Given the description of an element on the screen output the (x, y) to click on. 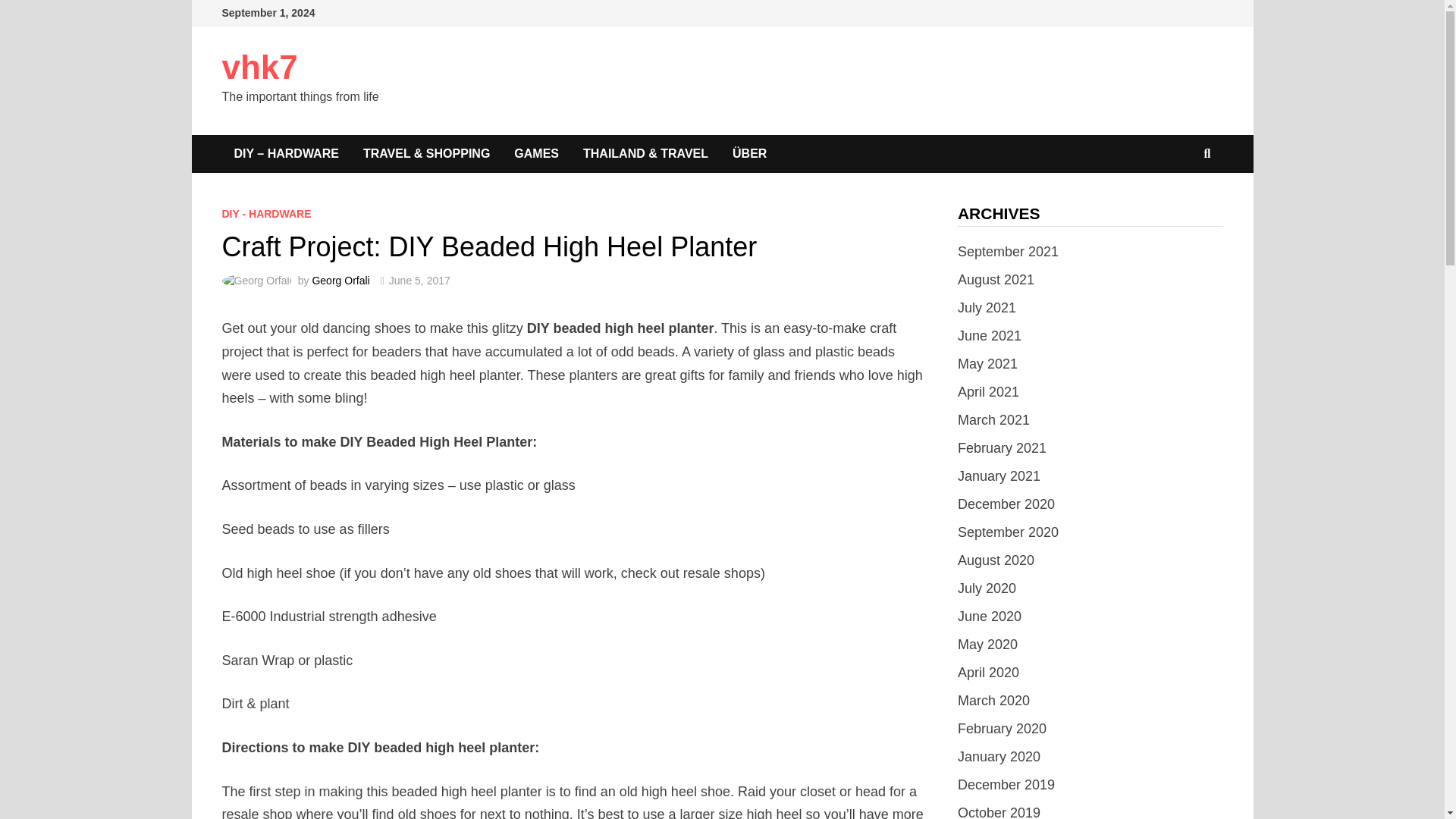
August 2021 (995, 279)
June 5, 2017 (418, 280)
Georg Orfali (340, 280)
June 2021 (990, 335)
September 2021 (1008, 251)
March 2021 (993, 419)
January 2021 (999, 476)
April 2021 (988, 391)
vhk7 (259, 66)
DIY - HARDWARE (266, 214)
